Given the description of an element on the screen output the (x, y) to click on. 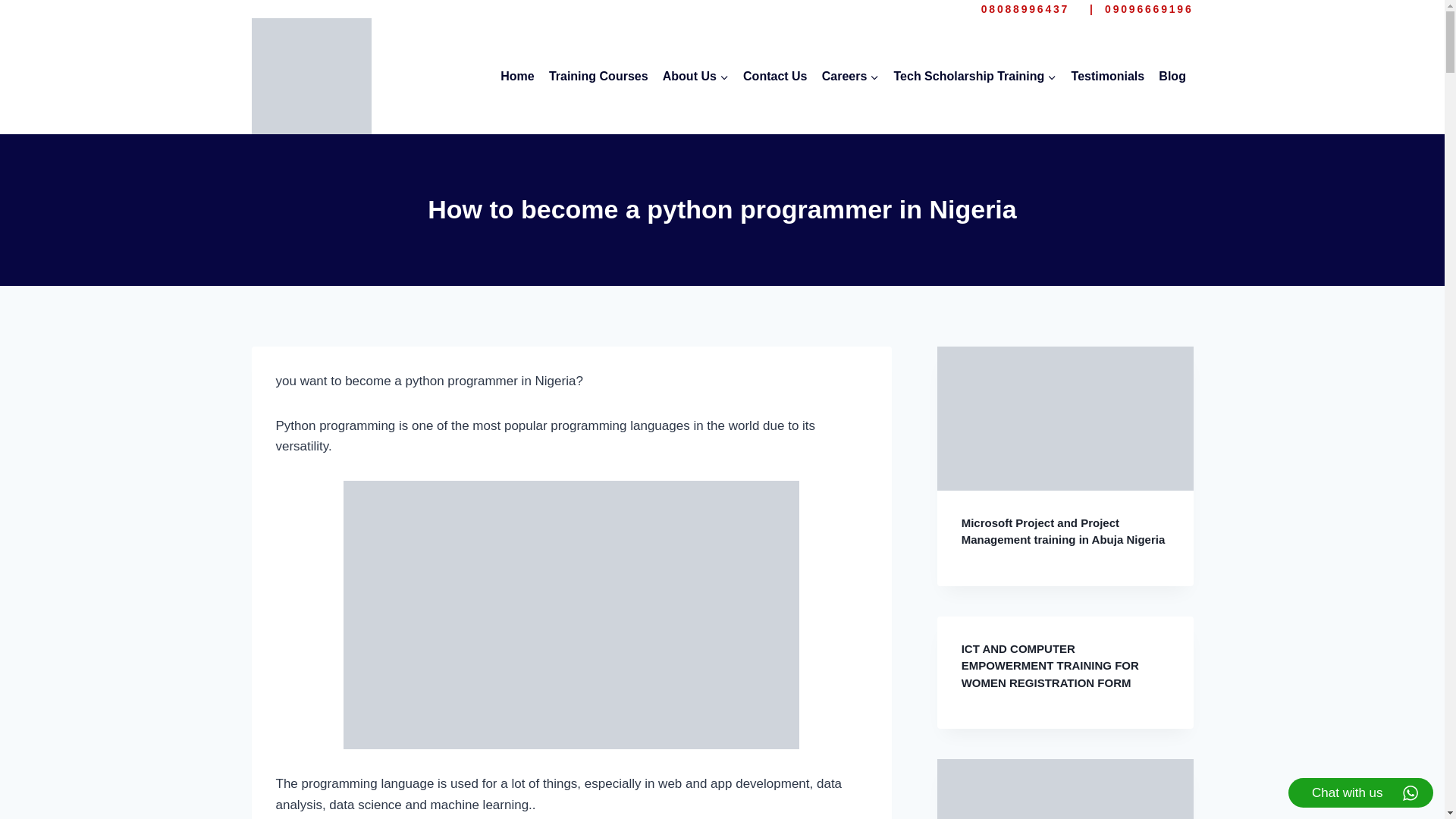
Careers (849, 76)
Testimonials (1107, 76)
About Us (695, 76)
Tech Scholarship Training (975, 76)
Blog (1172, 76)
Home (517, 76)
Training Courses (598, 76)
Contact Us (774, 76)
